Given the description of an element on the screen output the (x, y) to click on. 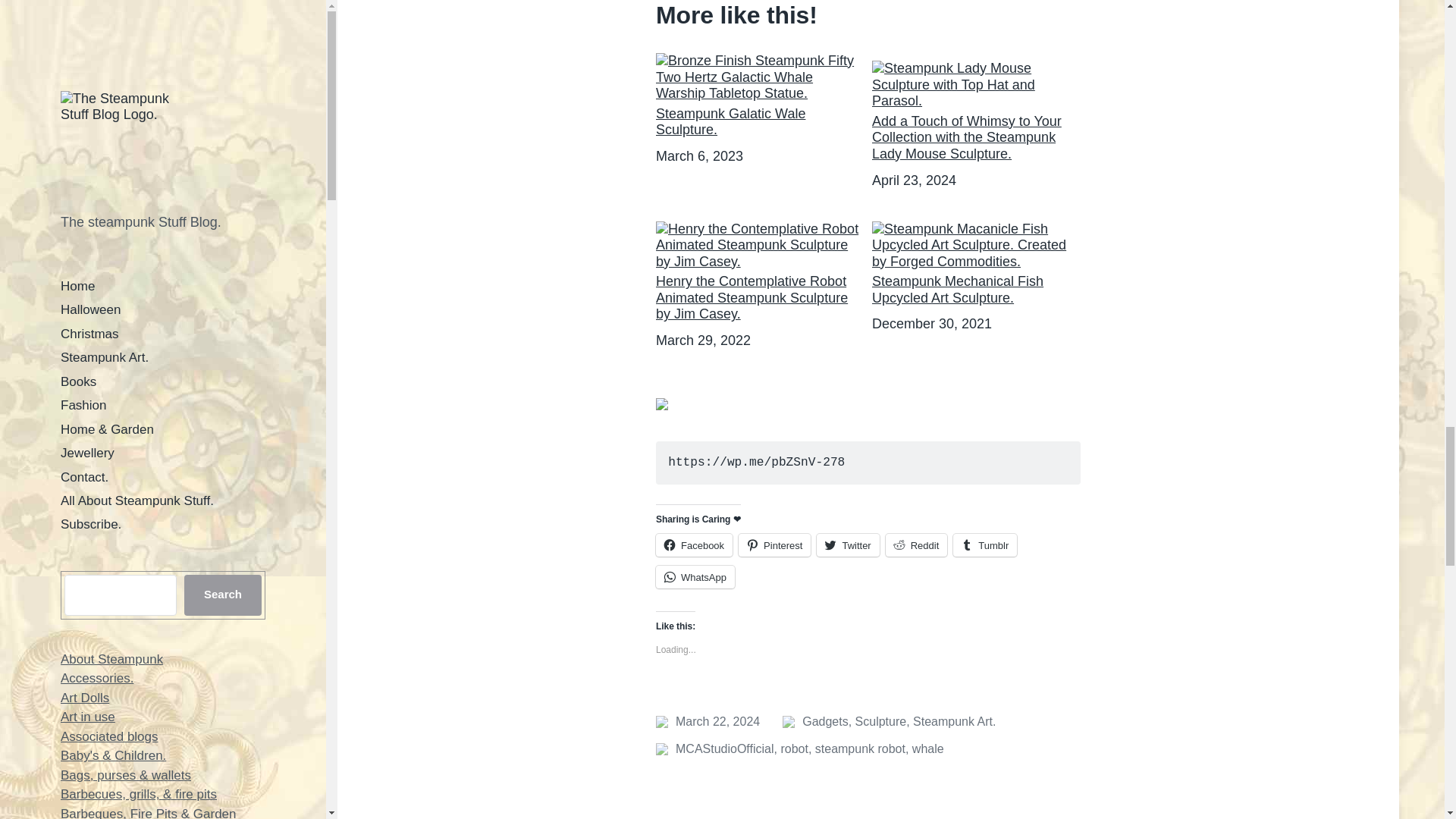
Click to share on Tumblr (984, 544)
Click to share on WhatsApp (695, 576)
Click to share on Reddit (916, 544)
Click to share on Facebook (694, 544)
Click to share on Pinterest (774, 544)
Click to share on Twitter (847, 544)
